Given the description of an element on the screen output the (x, y) to click on. 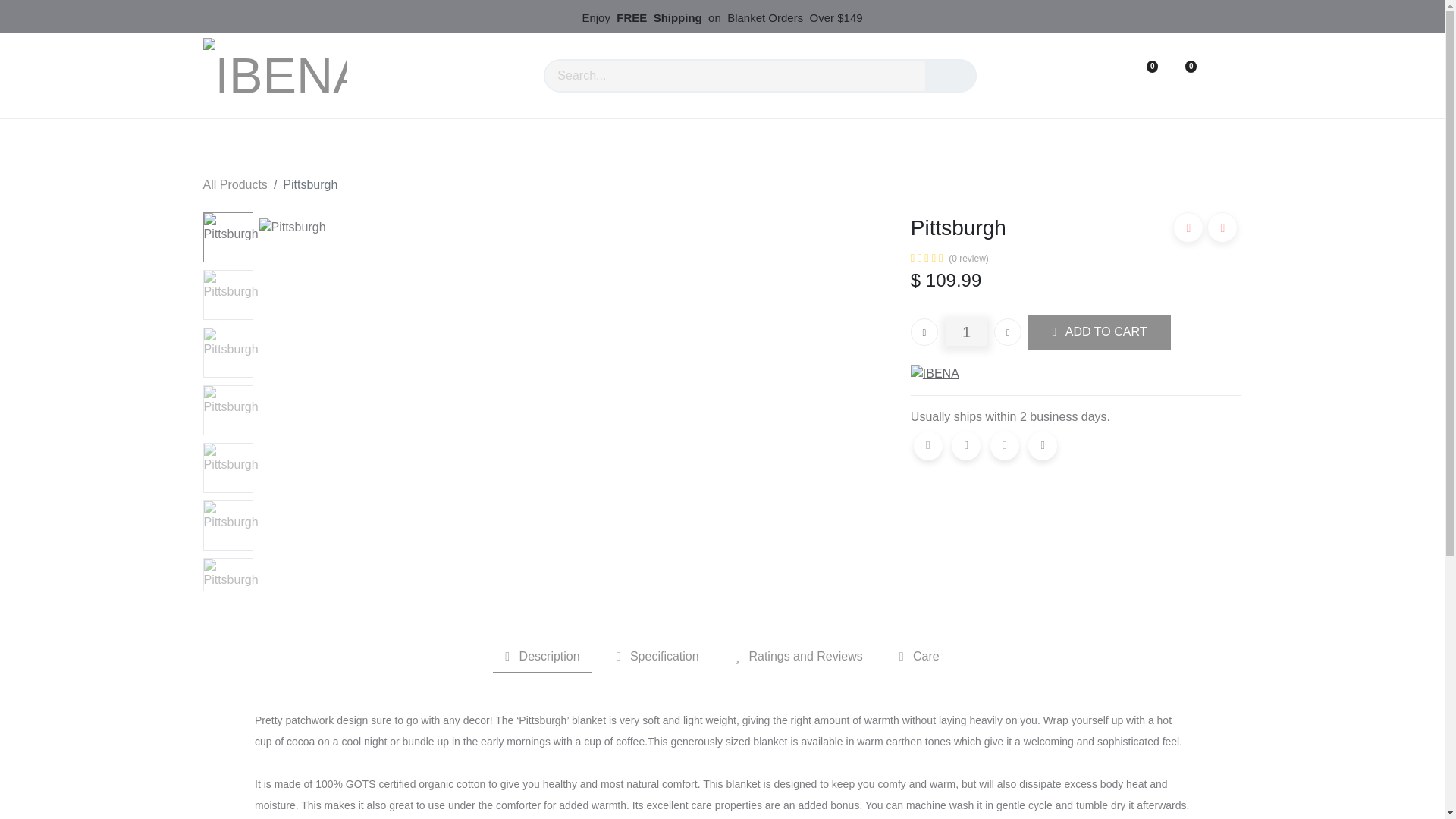
1 (966, 331)
Search (950, 75)
All Products (235, 184)
IBENA (275, 75)
